Given the description of an element on the screen output the (x, y) to click on. 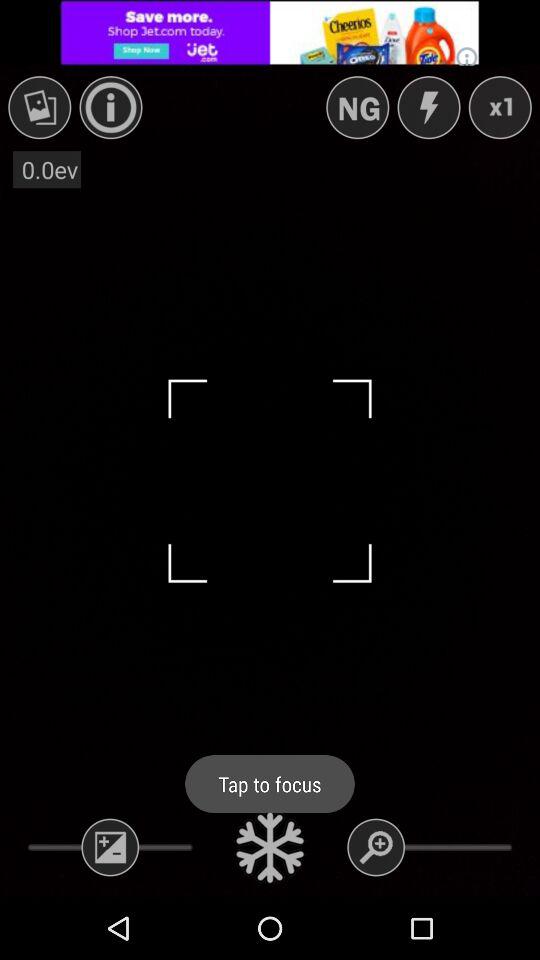
advertisement (270, 32)
